Given the description of an element on the screen output the (x, y) to click on. 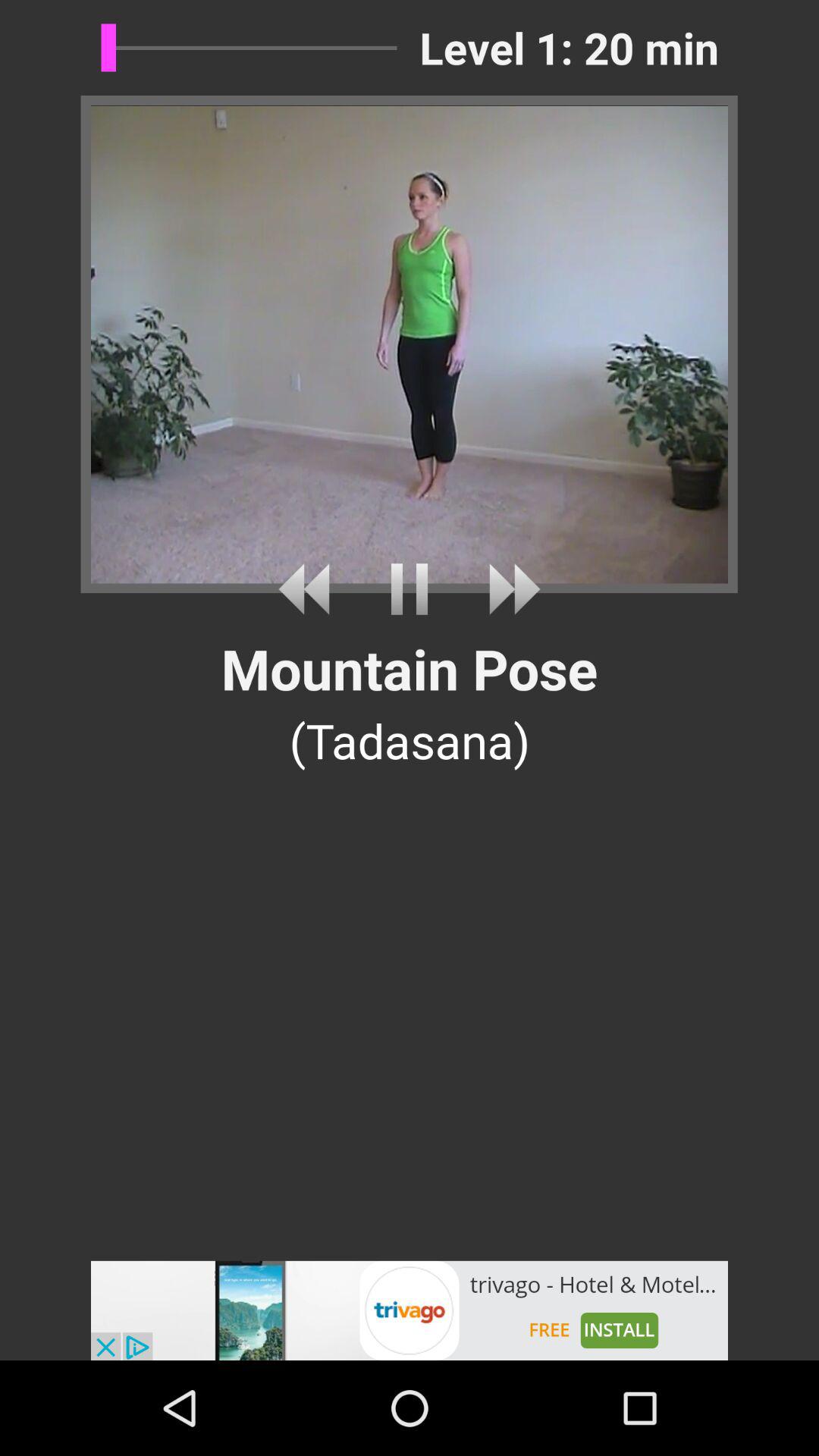
advertisement (409, 1310)
